Given the description of an element on the screen output the (x, y) to click on. 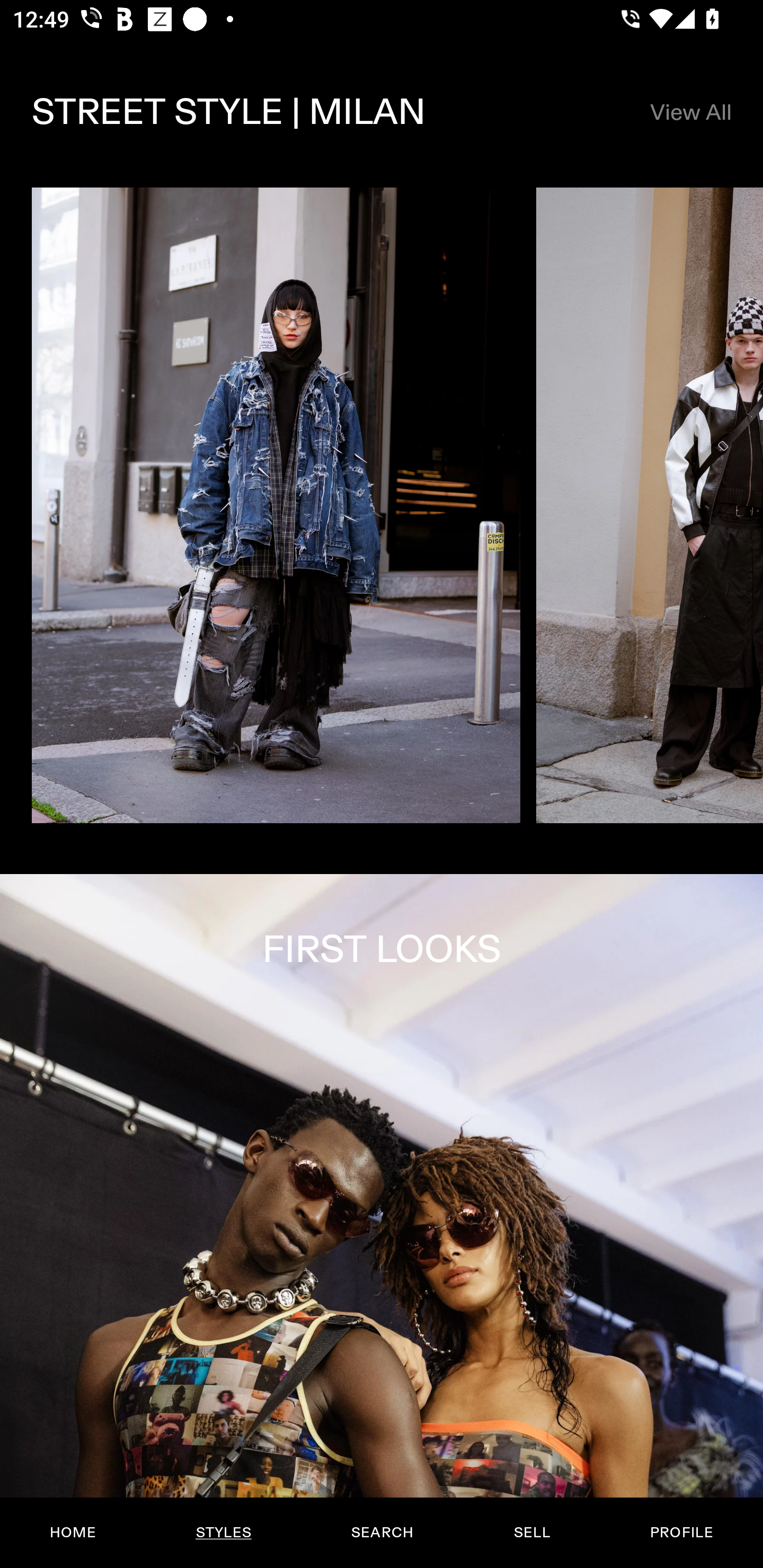
View All (690, 112)
FIRST LOOKS DIESEL FALL '24 (381, 1220)
HOME (72, 1532)
STYLES (222, 1532)
SEARCH (381, 1532)
SELL (531, 1532)
PROFILE (681, 1532)
